Given the description of an element on the screen output the (x, y) to click on. 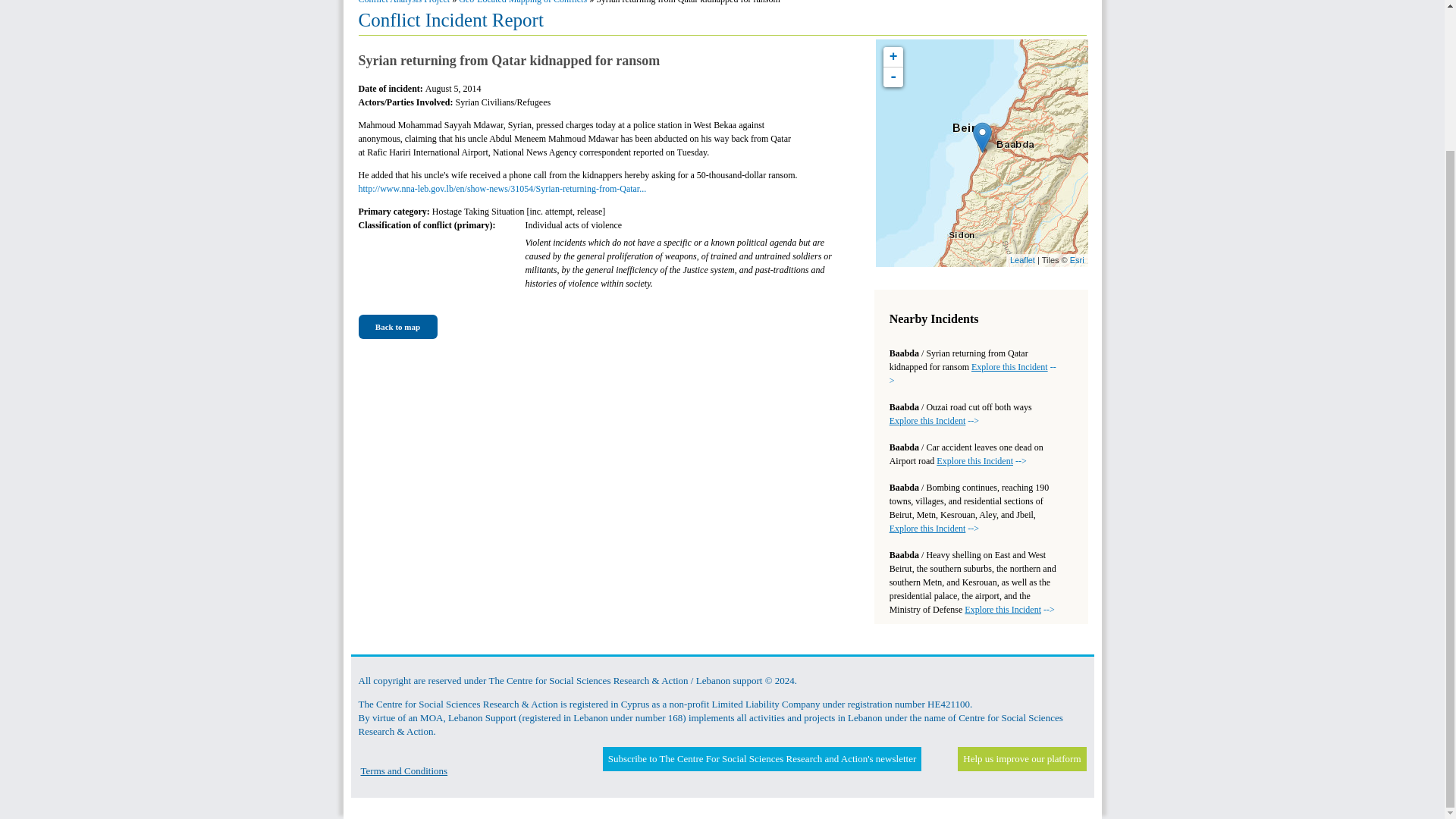
Geo-Located Mapping of Conflicts (522, 2)
Terms and Conditions (404, 770)
A JS library for interactive maps (1022, 259)
Zoom in (892, 55)
Help us improve our platform (1021, 758)
- (892, 76)
Back to map (397, 326)
Esri (1077, 259)
Leaflet (1022, 259)
Conflict Analysis Project (403, 2)
Zoom out (892, 76)
